Given the description of an element on the screen output the (x, y) to click on. 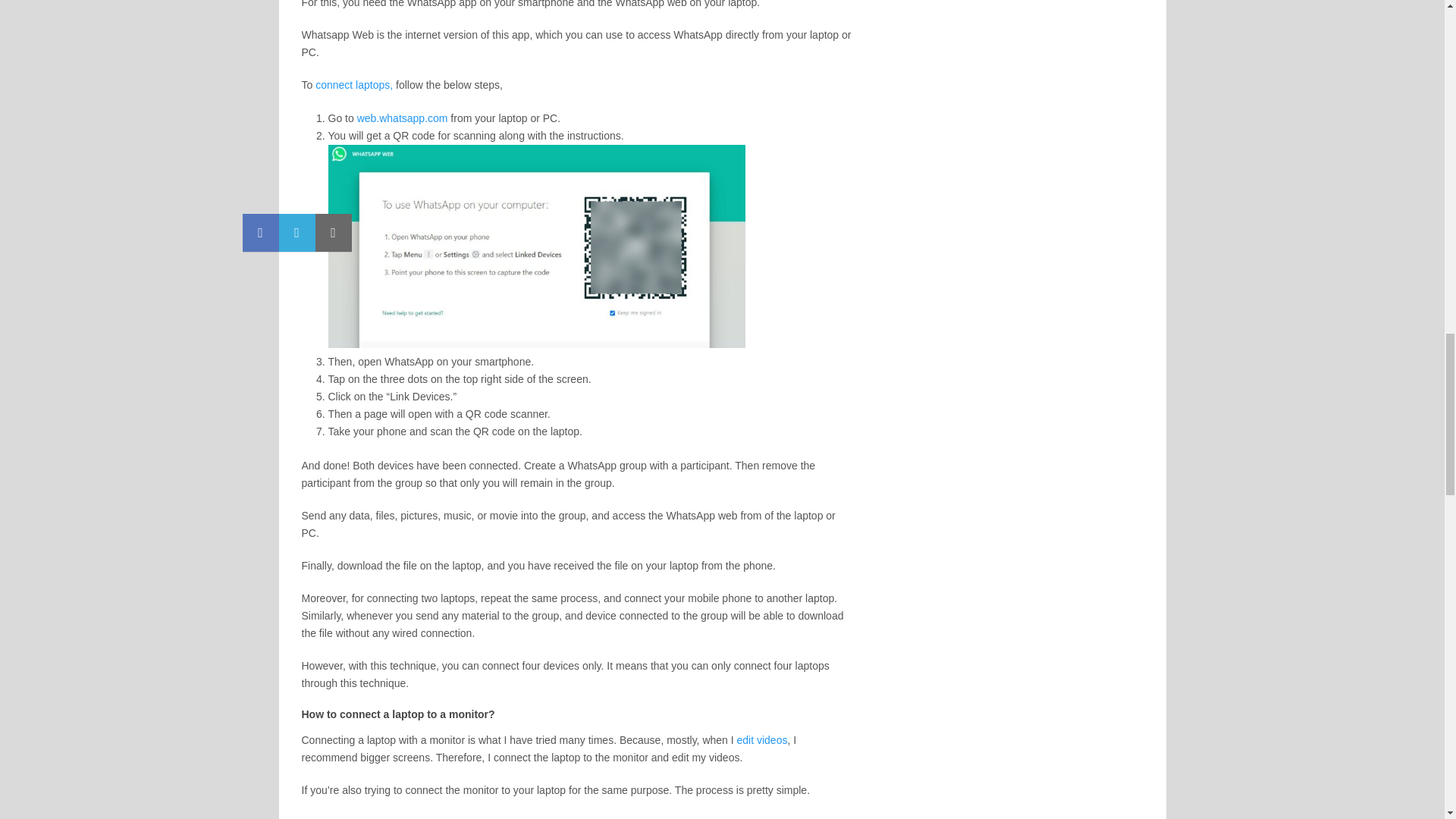
web.whatsapp.com (402, 118)
connect laptops, (354, 84)
edit videos (761, 739)
